Given the description of an element on the screen output the (x, y) to click on. 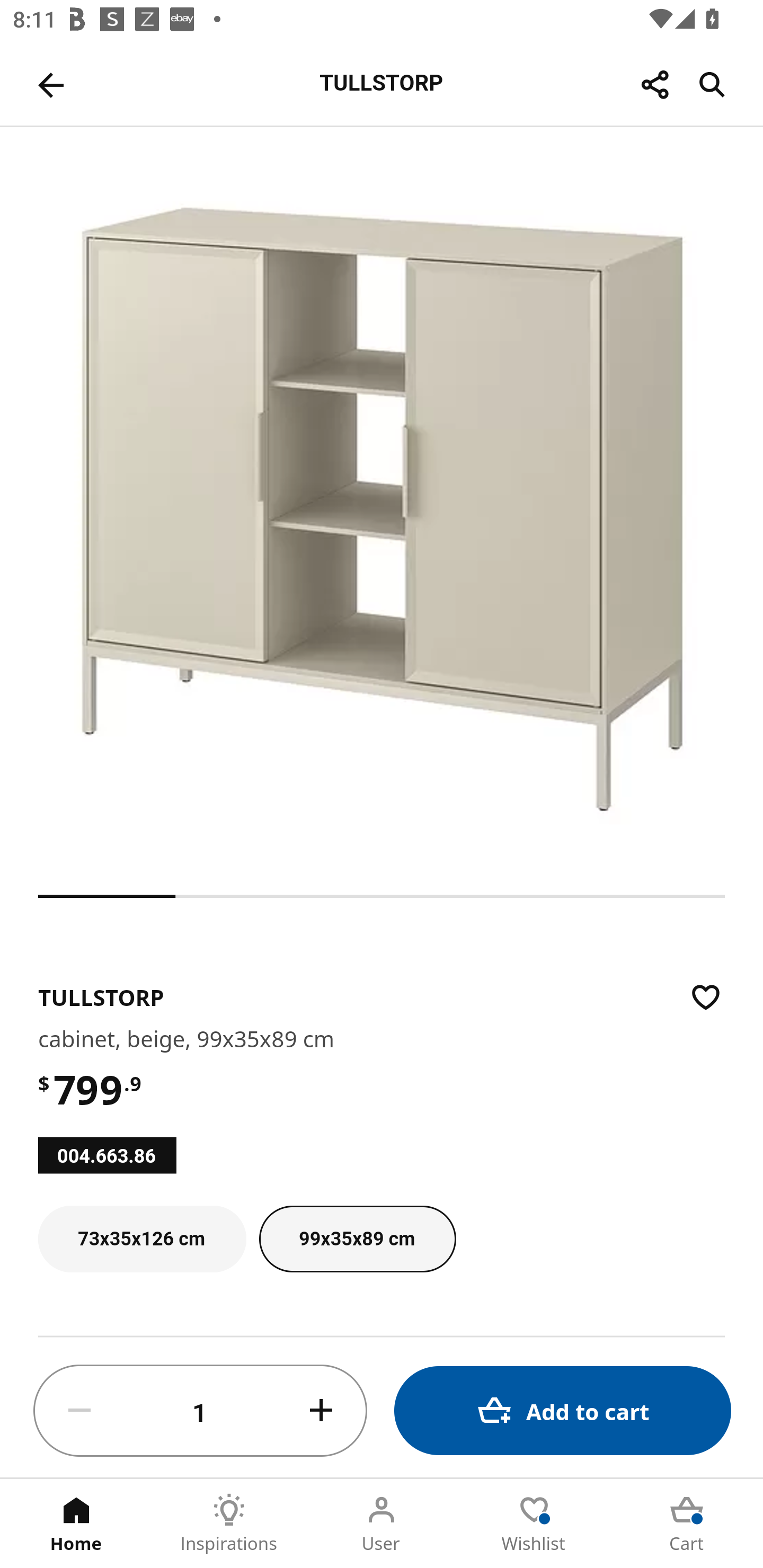
73x35x126 cm (142, 1238)
99x35x89 cm (357, 1238)
Add to cart (562, 1410)
1 (200, 1411)
Home
Tab 1 of 5 (76, 1522)
Inspirations
Tab 2 of 5 (228, 1522)
User
Tab 3 of 5 (381, 1522)
Wishlist
Tab 4 of 5 (533, 1522)
Cart
Tab 5 of 5 (686, 1522)
